Given the description of an element on the screen output the (x, y) to click on. 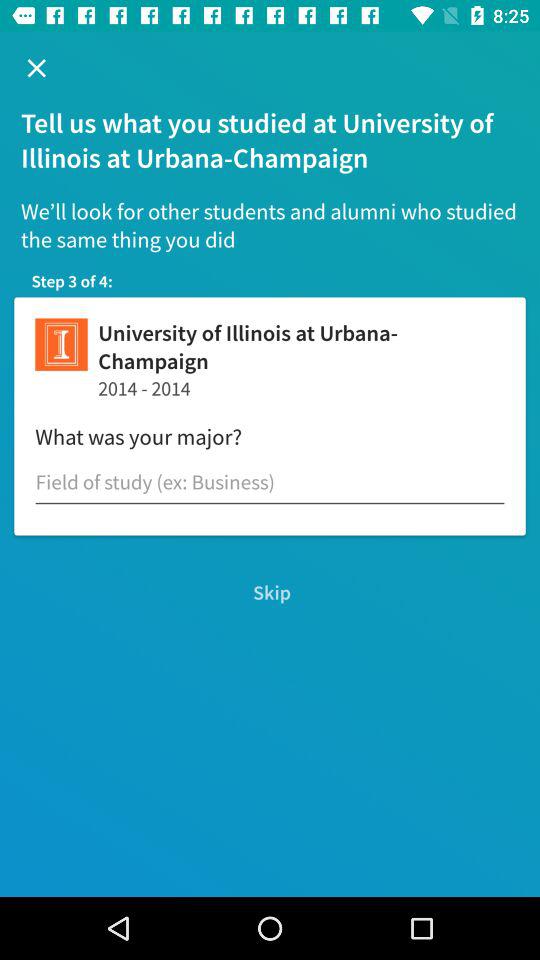
choose item above tell us what icon (36, 68)
